Given the description of an element on the screen output the (x, y) to click on. 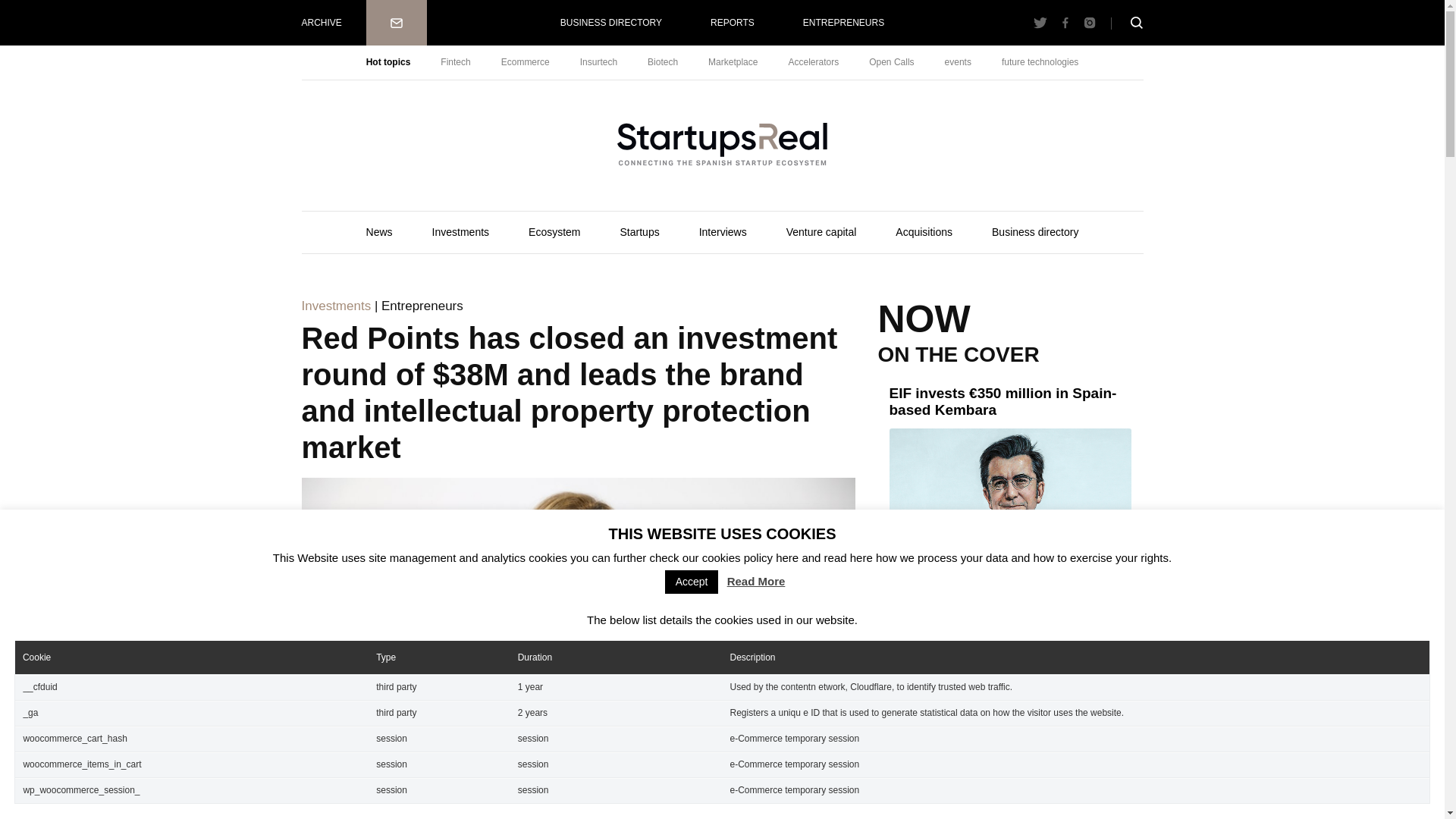
REPORTS (731, 22)
BUSINESS DIRECTORY (610, 22)
Newsletter (396, 22)
ENTREPRENEURS (843, 22)
